Given the description of an element on the screen output the (x, y) to click on. 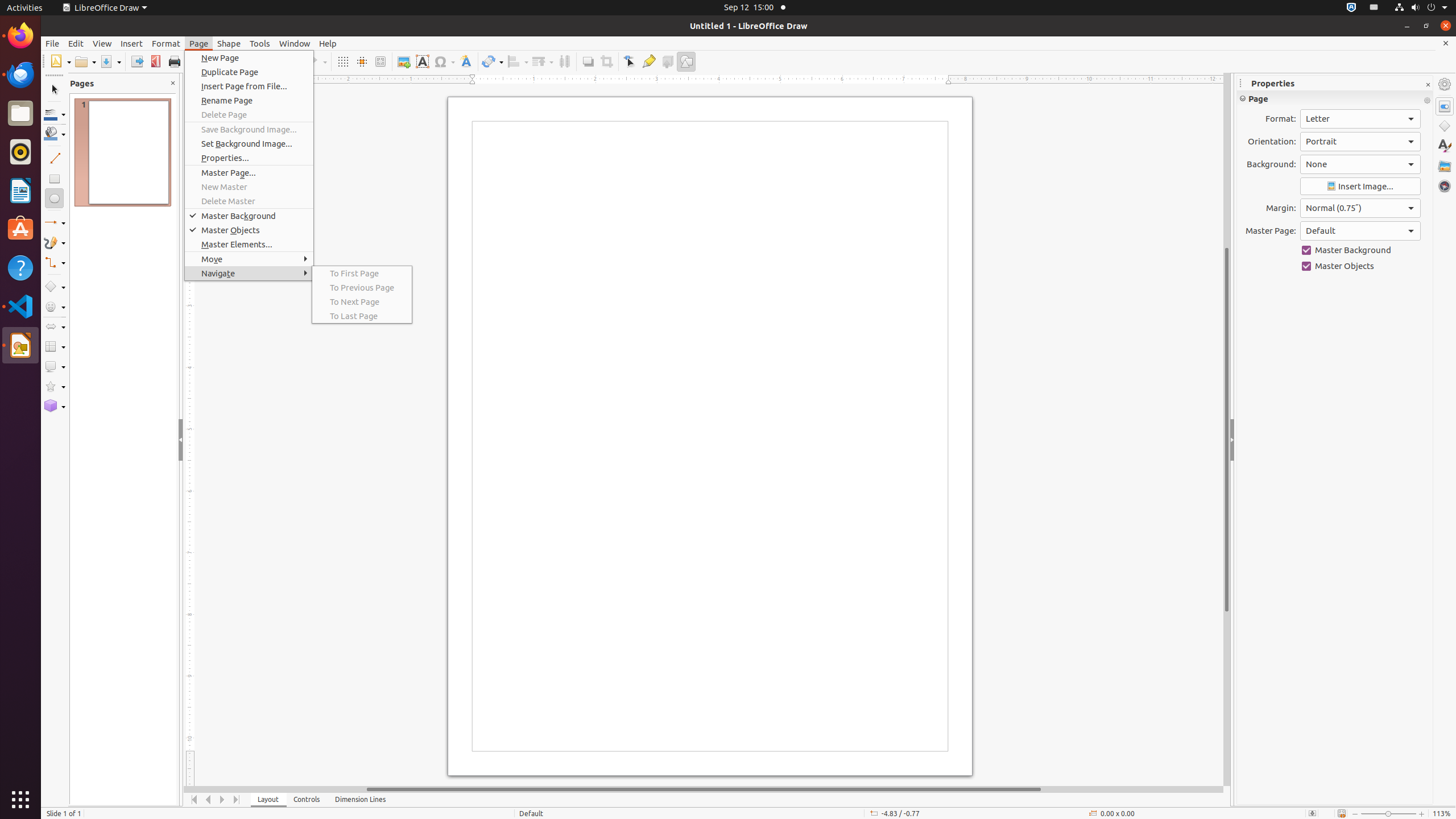
Shape Element type: menu (228, 43)
Distribution Element type: push-button (564, 61)
Align Element type: push-button (517, 61)
Insert Image Element type: push-button (1360, 186)
:1.21/StatusNotifierItem Element type: menu (1373, 7)
